Given the description of an element on the screen output the (x, y) to click on. 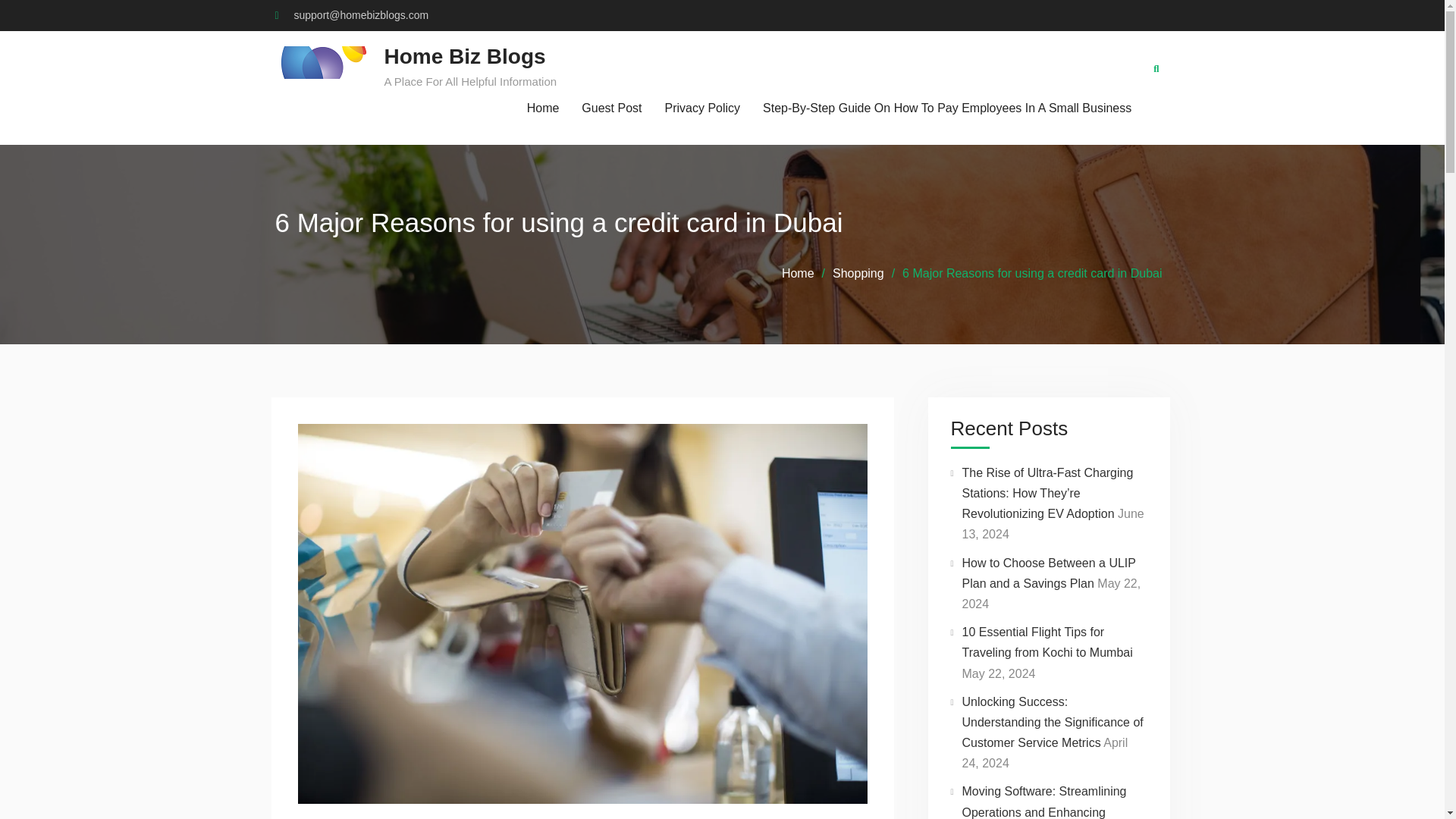
How to Choose Between a ULIP Plan and a Savings Plan (1047, 572)
Privacy Policy (703, 107)
Home Biz Blogs (464, 56)
Home (543, 107)
Shopping (857, 273)
Guest Post (611, 107)
10 Essential Flight Tips for Traveling from Kochi to Mumbai (1046, 642)
Home (797, 273)
